Given the description of an element on the screen output the (x, y) to click on. 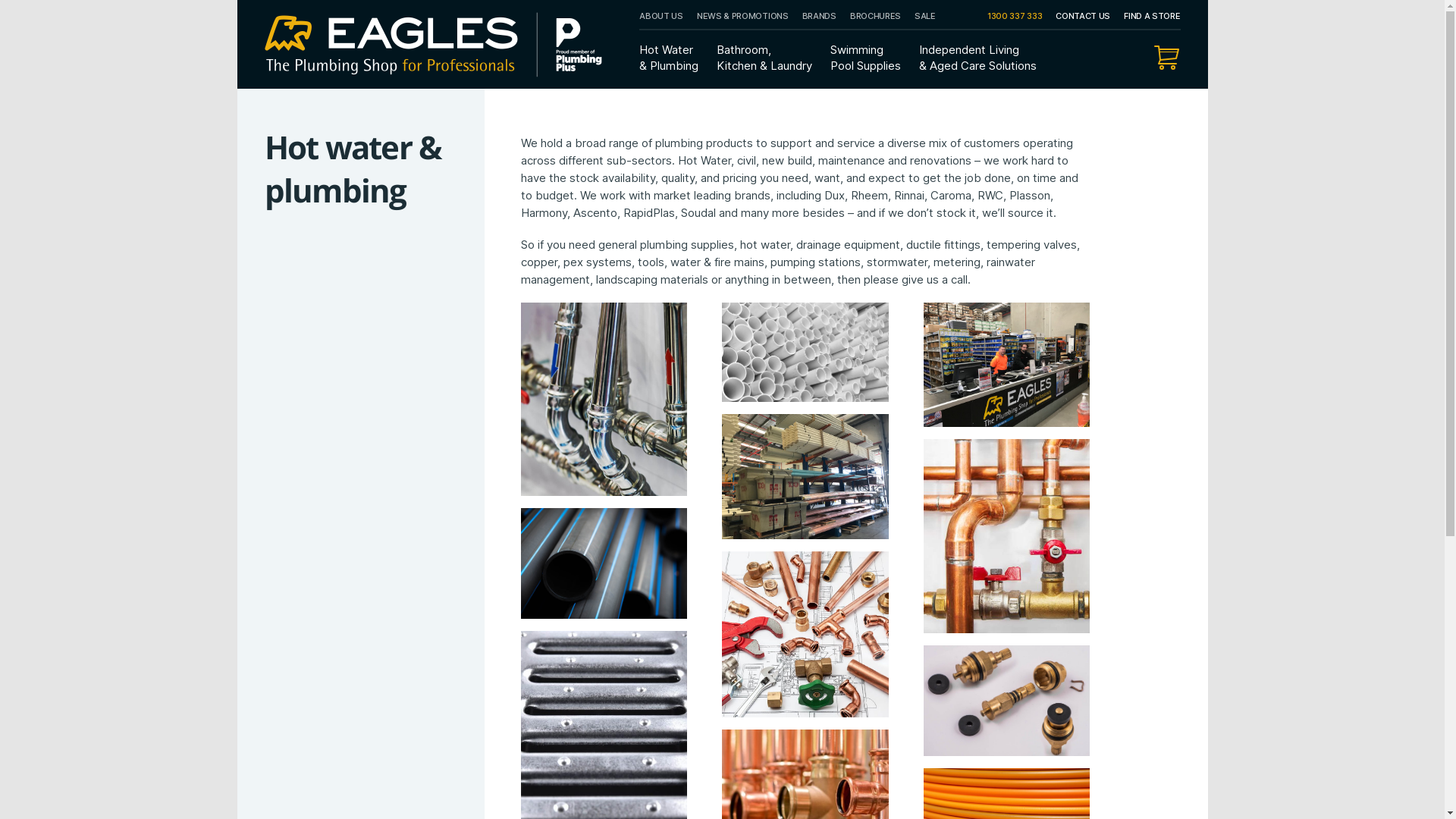
FIND A STORE Element type: text (1151, 16)
Hot Water
& Plumbing Element type: text (668, 57)
Bathroom,
Kitchen & Laundry Element type: text (764, 57)
Independent Living
& Aged Care Solutions Element type: text (977, 57)
BROCHURES Element type: text (875, 16)
NEWS & PROMOTIONS Element type: text (742, 16)
SALE Element type: text (924, 16)
Cart Element type: text (1165, 57)
CONTACT US Element type: text (1082, 16)
Swimming
Pool Supplies Element type: text (865, 57)
1300 337 333 Element type: text (1014, 16)
BRANDS Element type: text (819, 16)
ABOUT US Element type: text (661, 16)
